Given the description of an element on the screen output the (x, y) to click on. 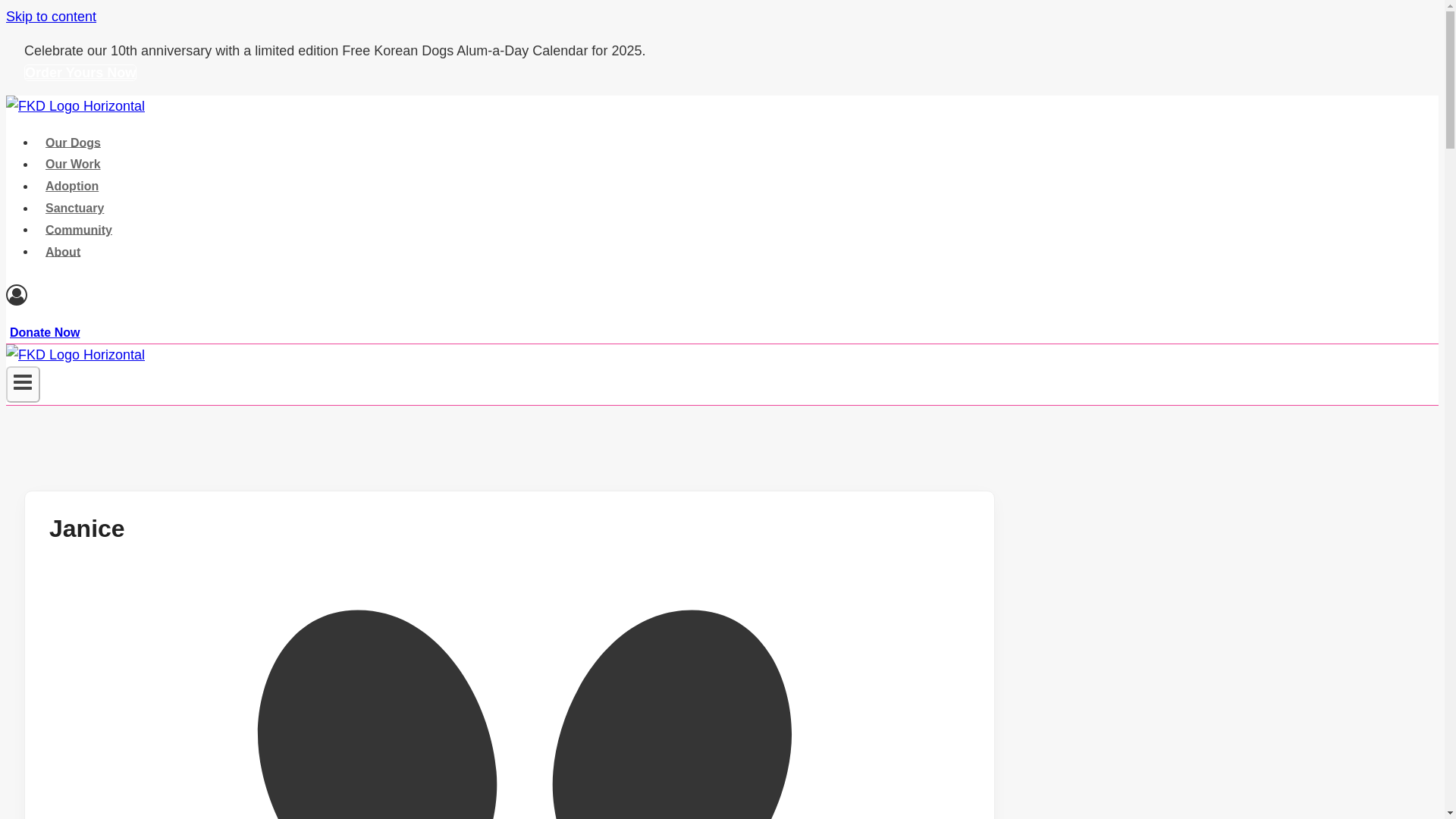
Skip to content (50, 16)
Our Dogs (73, 142)
Adoption (71, 185)
Toggle Menu (22, 384)
Our Work (73, 163)
Order Yours Now (80, 72)
Account (505, 298)
Donate Now (45, 332)
Sanctuary (74, 207)
Community (78, 229)
About (62, 251)
Skip to content (50, 16)
Account (16, 294)
